Given the description of an element on the screen output the (x, y) to click on. 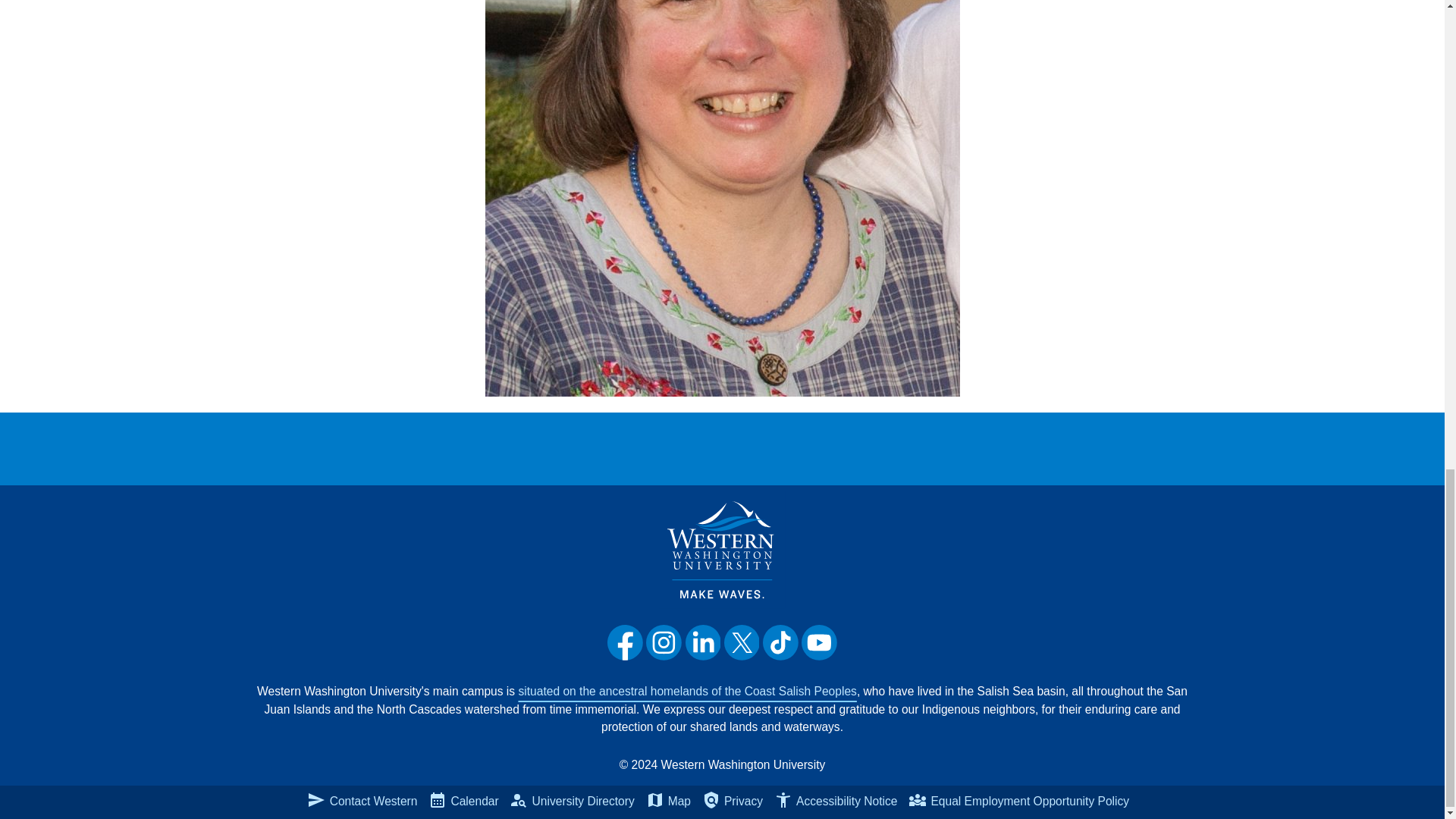
Western on Facebook (625, 642)
Western on YouTube (819, 642)
Western on LinkedIn (702, 642)
Western on Instagram (663, 642)
Western Logo (721, 549)
Western on TikTok (779, 642)
Western on Twitter (741, 642)
